Given the description of an element on the screen output the (x, y) to click on. 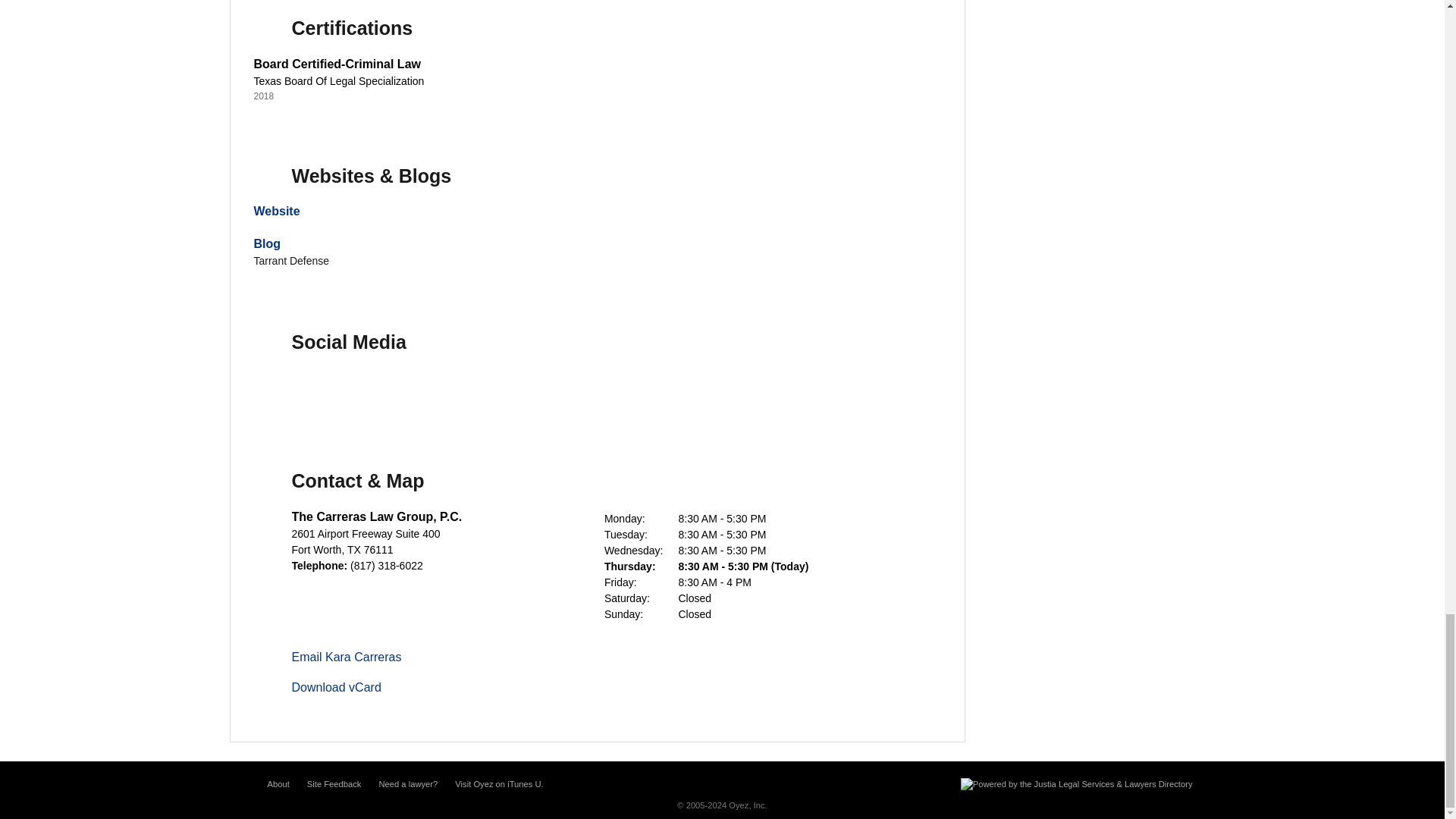
Kara Carreras on Facebook (275, 391)
Email Kara Carreras (346, 656)
Download vCard (335, 686)
Website (276, 210)
X (328, 391)
Kara Carreras's Avvo Profile (435, 391)
Blog (267, 243)
Justia Profile (381, 391)
 Justia Profile (381, 391)
Facebook (275, 391)
